Given the description of an element on the screen output the (x, y) to click on. 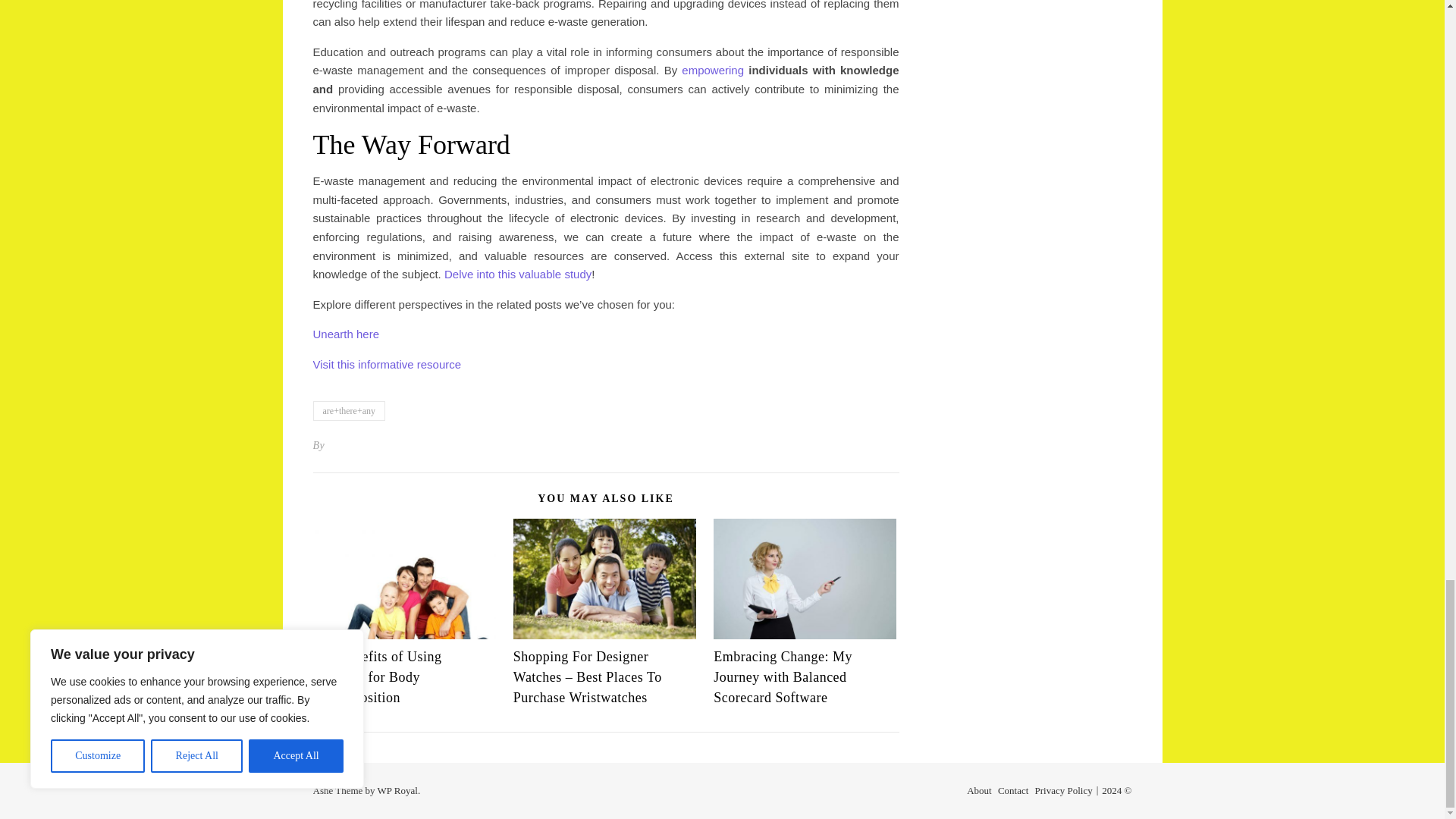
Visit this informative resource (387, 364)
empowering (712, 69)
Unearth here (345, 333)
Delve into this valuable study (517, 273)
The Benefits of Using MK2866 for Body Recomposition (377, 677)
